Given the description of an element on the screen output the (x, y) to click on. 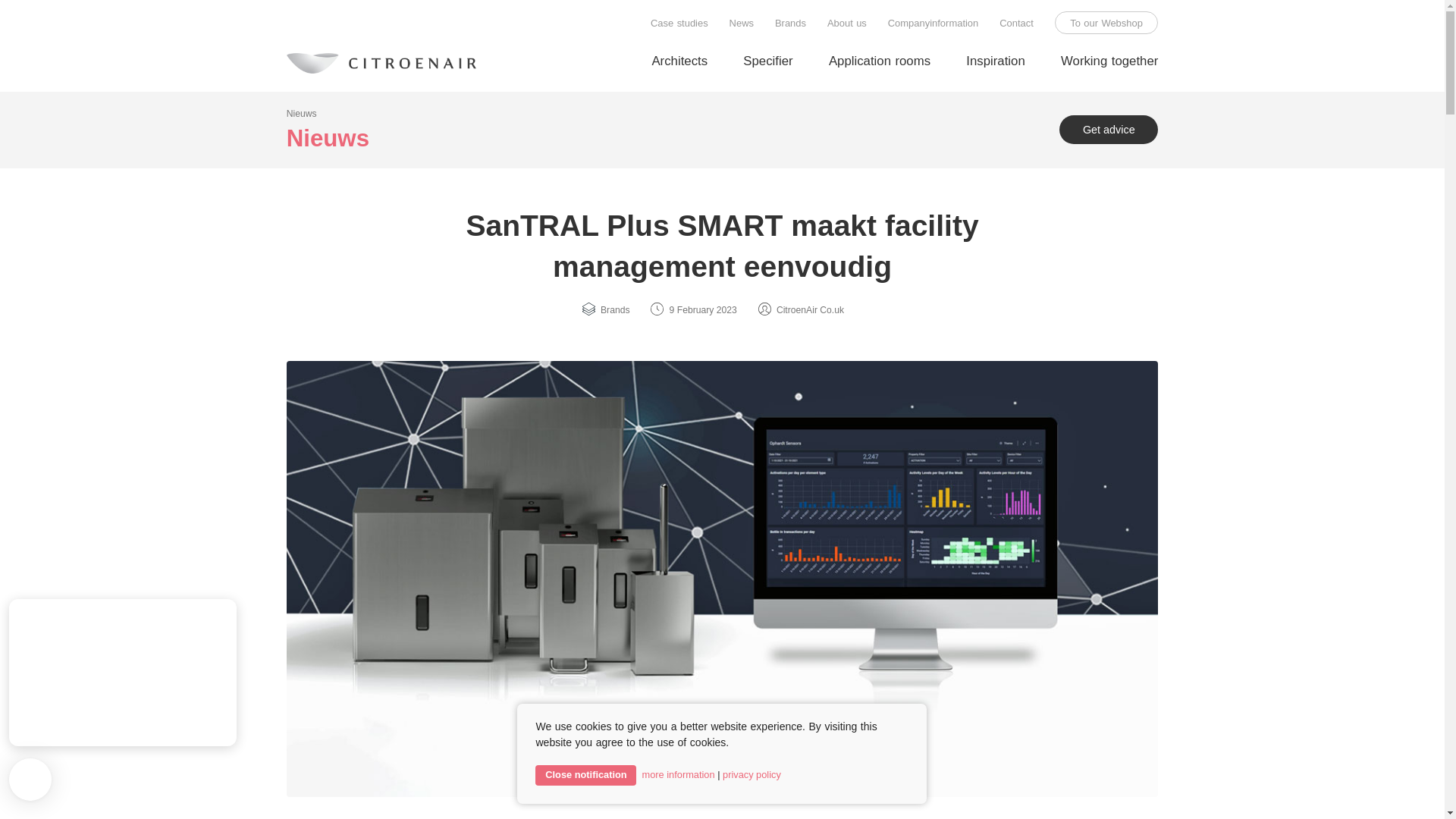
Working together (1109, 62)
more information (678, 774)
Smartsupp widget button (29, 779)
Get advice (1108, 129)
Architects (678, 62)
About us (846, 24)
Companyinformation (933, 24)
Contact (1015, 24)
Nieuws (301, 113)
To our Webshop (1106, 24)
News (741, 24)
Inspiration (995, 62)
Case studies (678, 24)
Smartsupp widget popup (121, 672)
Brands (790, 24)
